Given the description of an element on the screen output the (x, y) to click on. 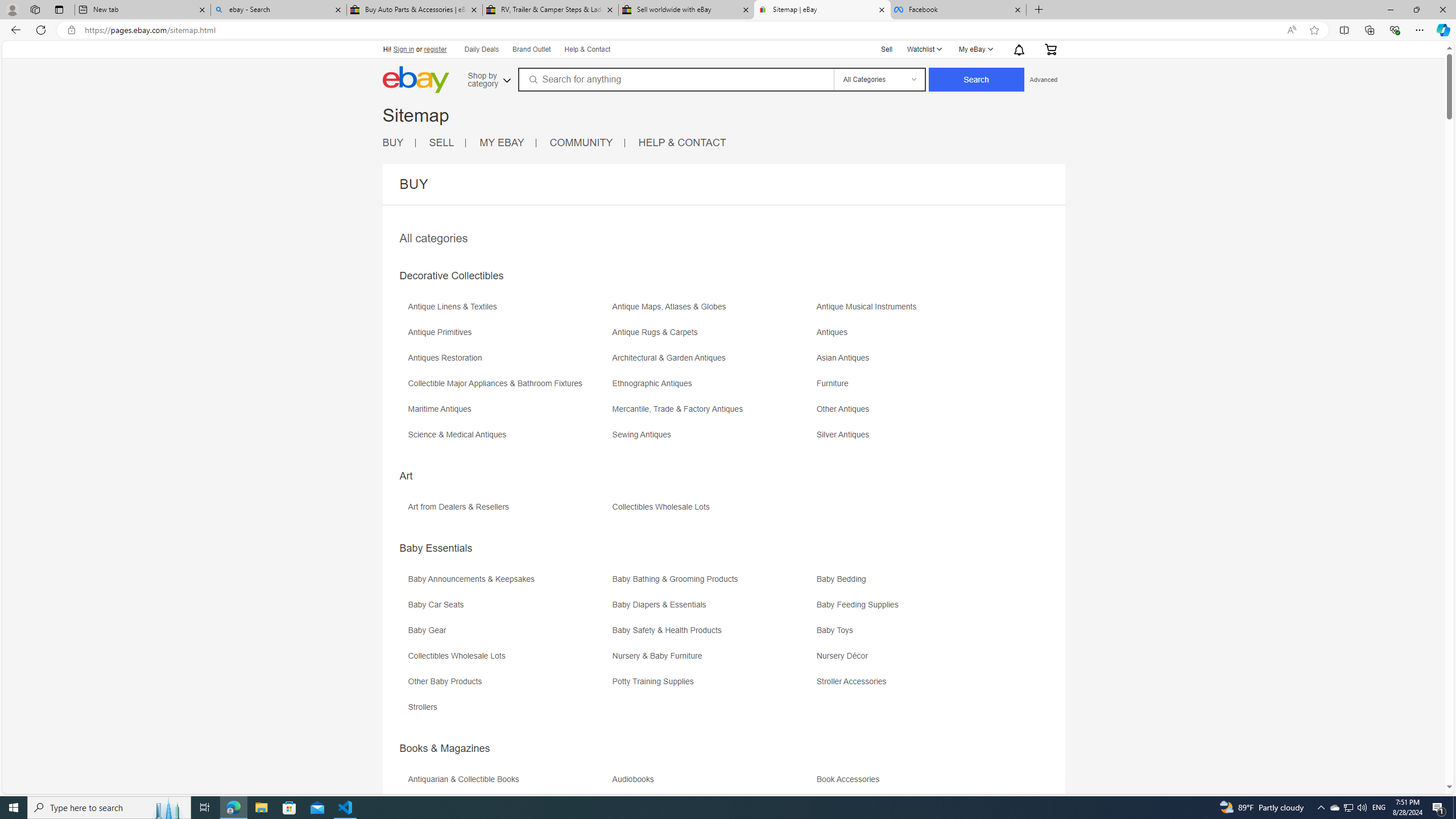
Collectibles Wholesale Lots (508, 659)
Antique Rugs & Carpets (657, 332)
Select a category for search (878, 79)
Help & Contact (587, 49)
Baby Bedding (844, 579)
Antiques Restoration (447, 357)
Art (405, 475)
Sitemap | eBay (822, 9)
Baby Diapers & Essentials (661, 604)
Baby Gear (429, 630)
COMMUNITY (586, 142)
